Given the description of an element on the screen output the (x, y) to click on. 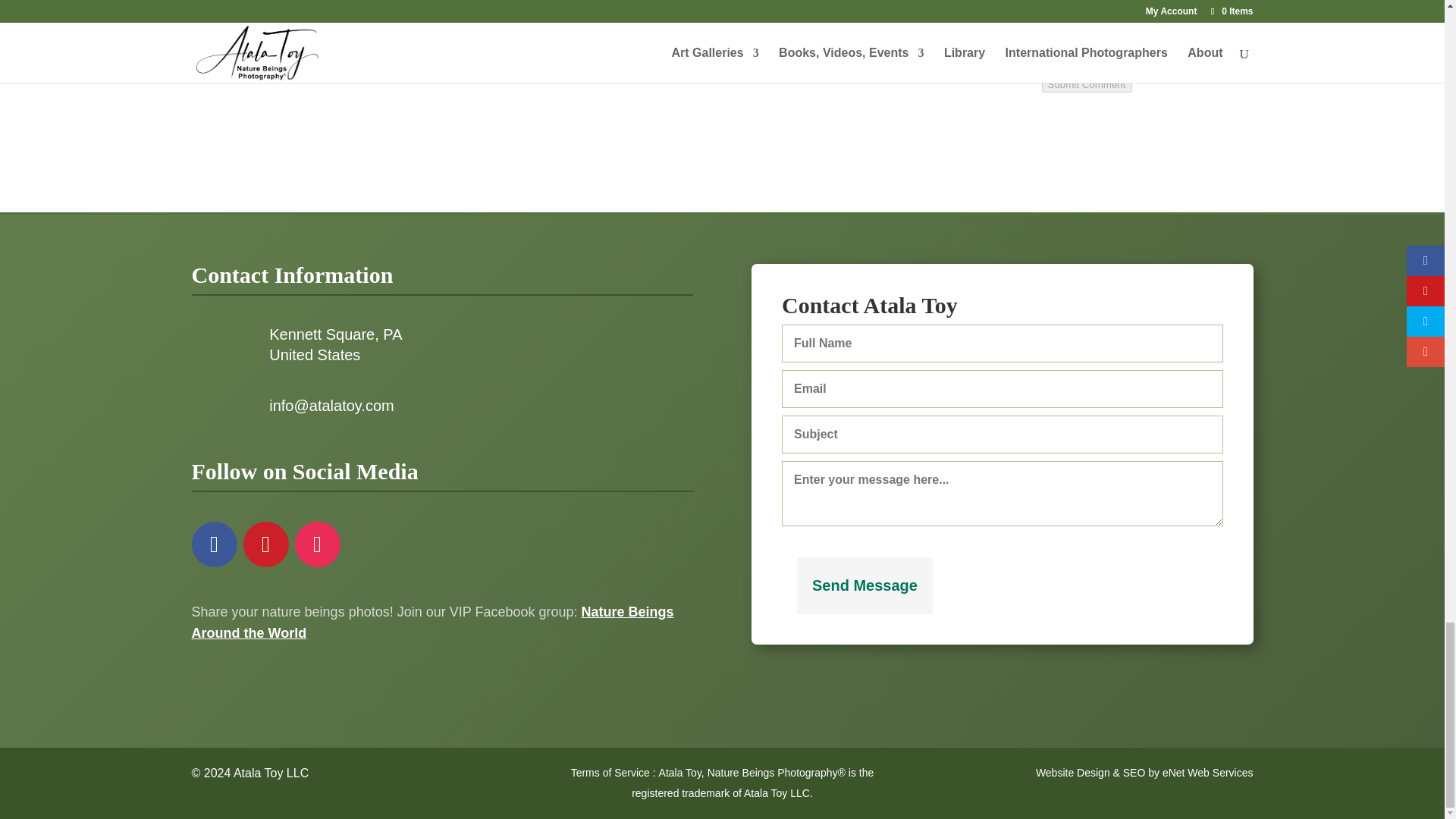
Send Message (864, 585)
Follow on Facebook (212, 544)
yes (319, 22)
Follow on Pinterest (265, 544)
Follow on Instagram (316, 544)
